Given the description of an element on the screen output the (x, y) to click on. 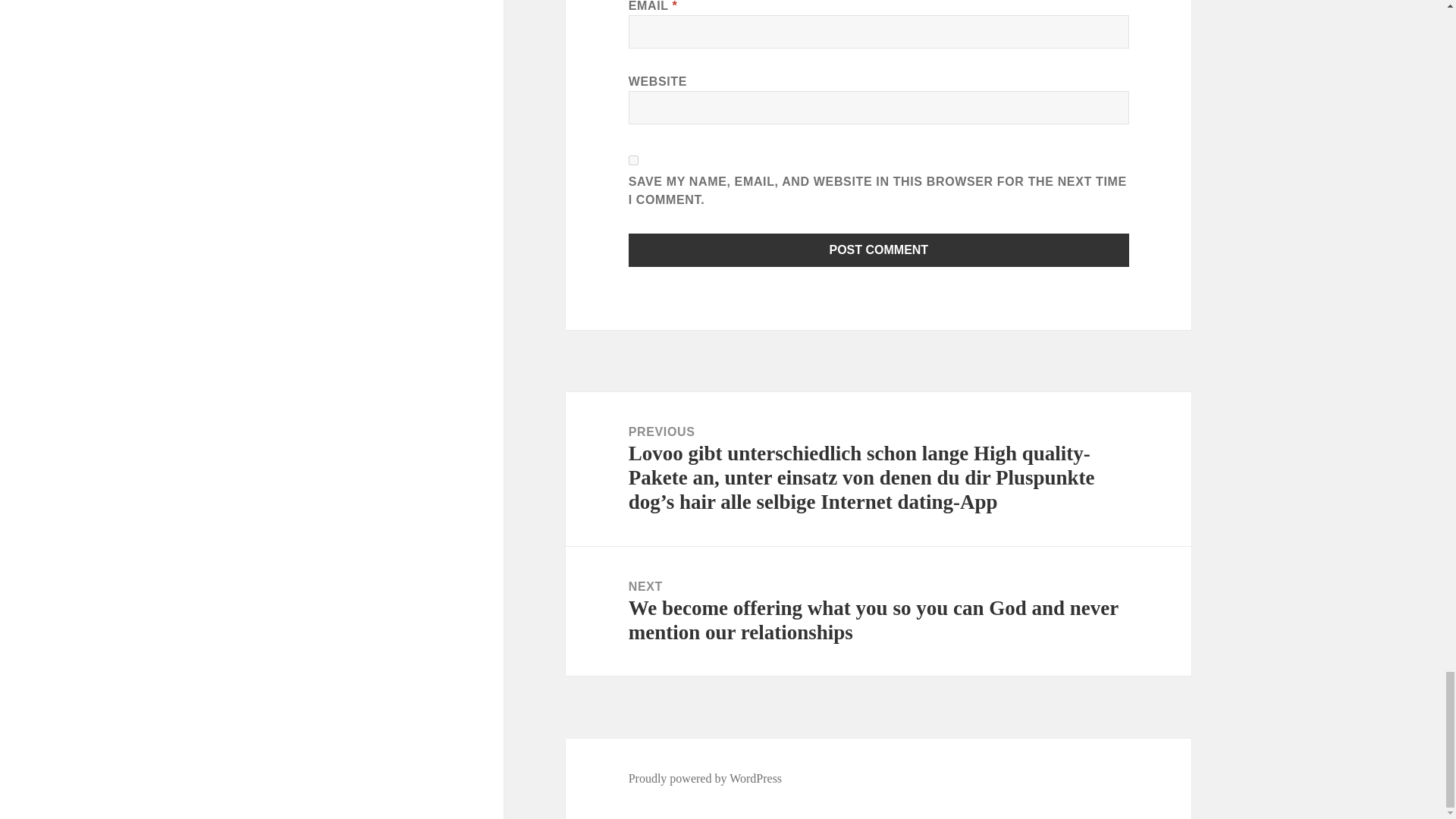
Post Comment (878, 249)
yes (633, 160)
